Given the description of an element on the screen output the (x, y) to click on. 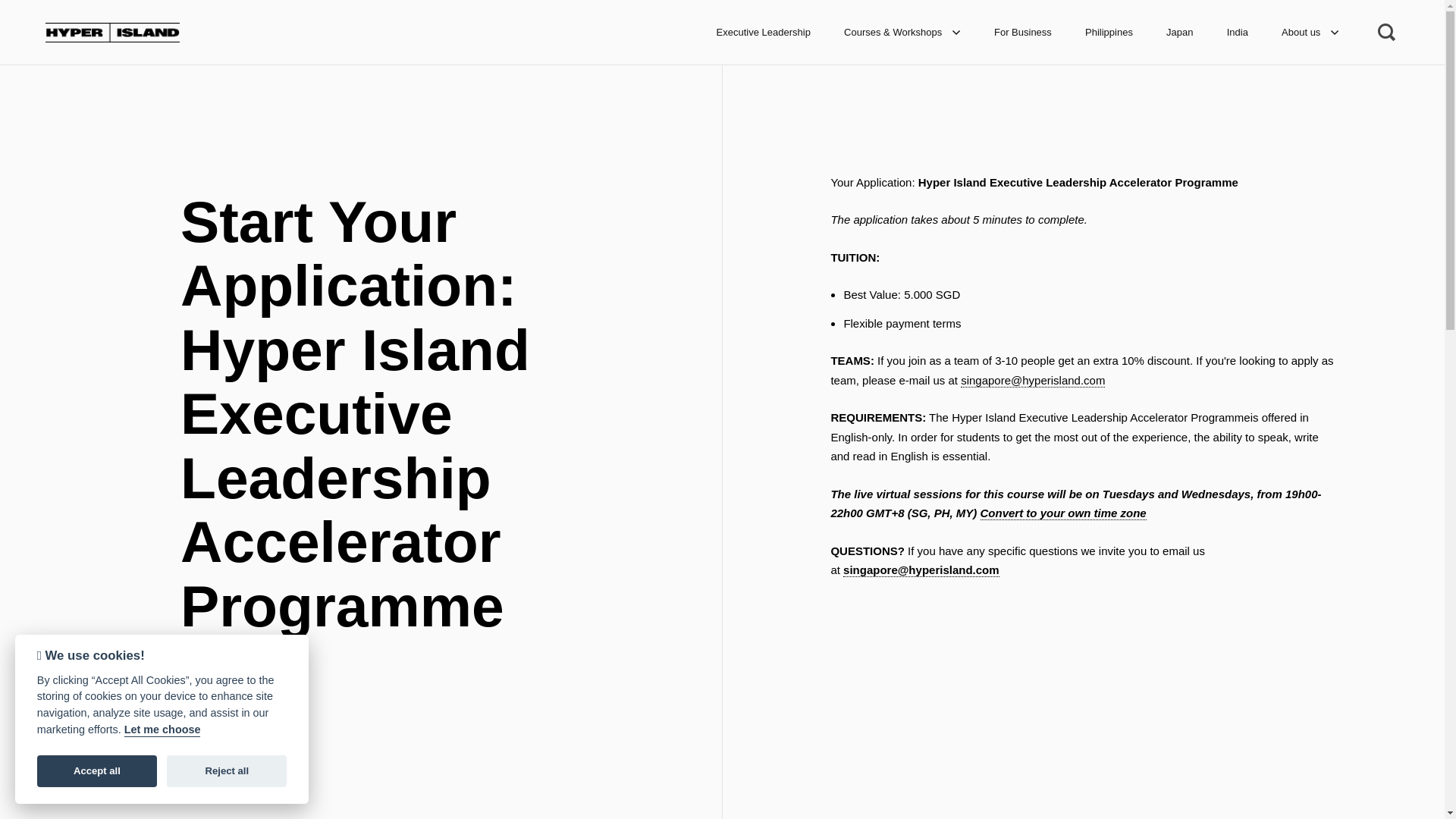
Philippines (1109, 31)
Japan (1179, 31)
Form 0 (1082, 654)
Open search (1387, 31)
For Business (1022, 31)
India (1237, 31)
Executive Leadership (763, 31)
About us (1310, 31)
